Given the description of an element on the screen output the (x, y) to click on. 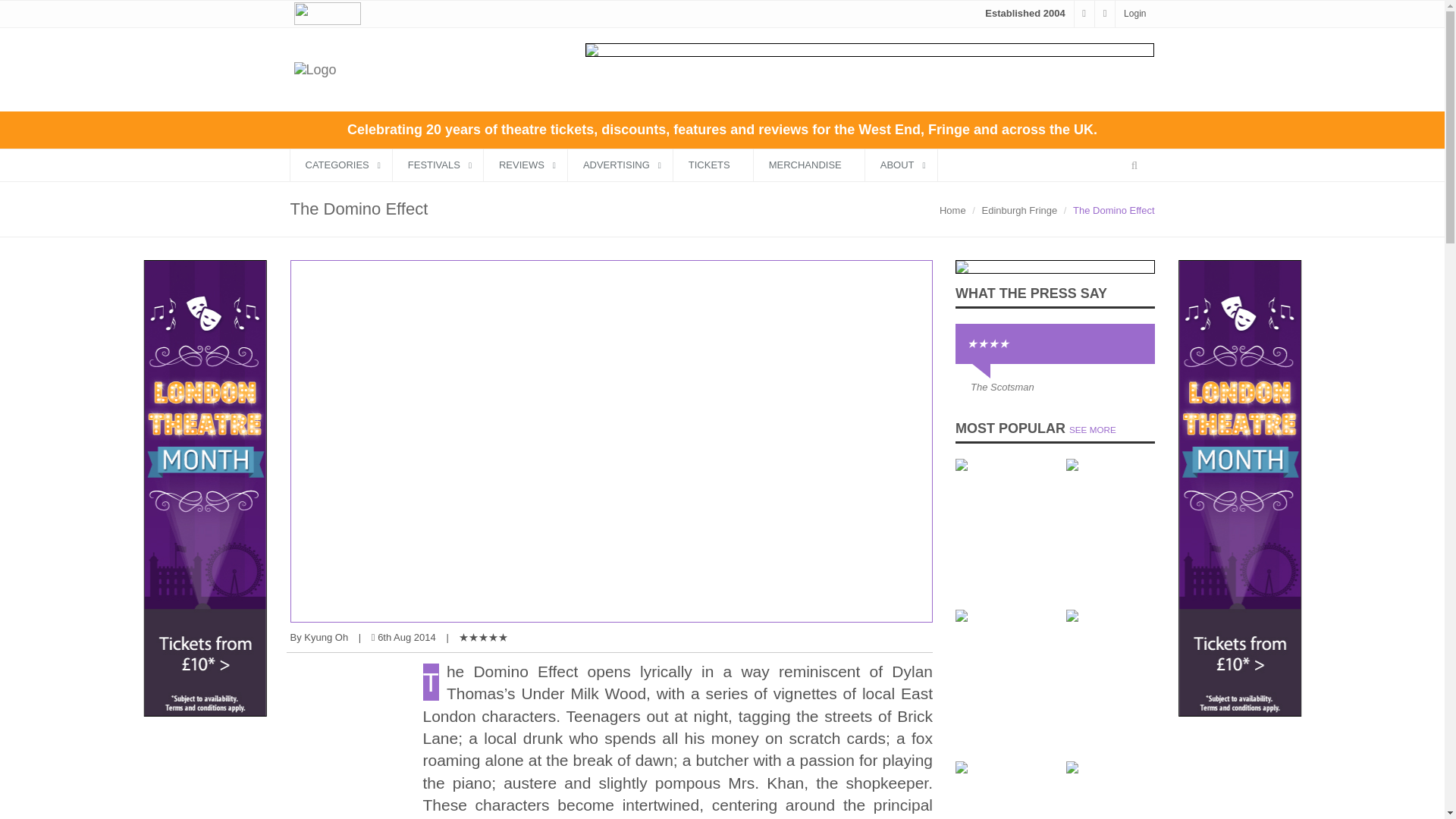
FESTIVALS (438, 164)
CATEGORIES (340, 164)
Login (1134, 13)
